Given the description of an element on the screen output the (x, y) to click on. 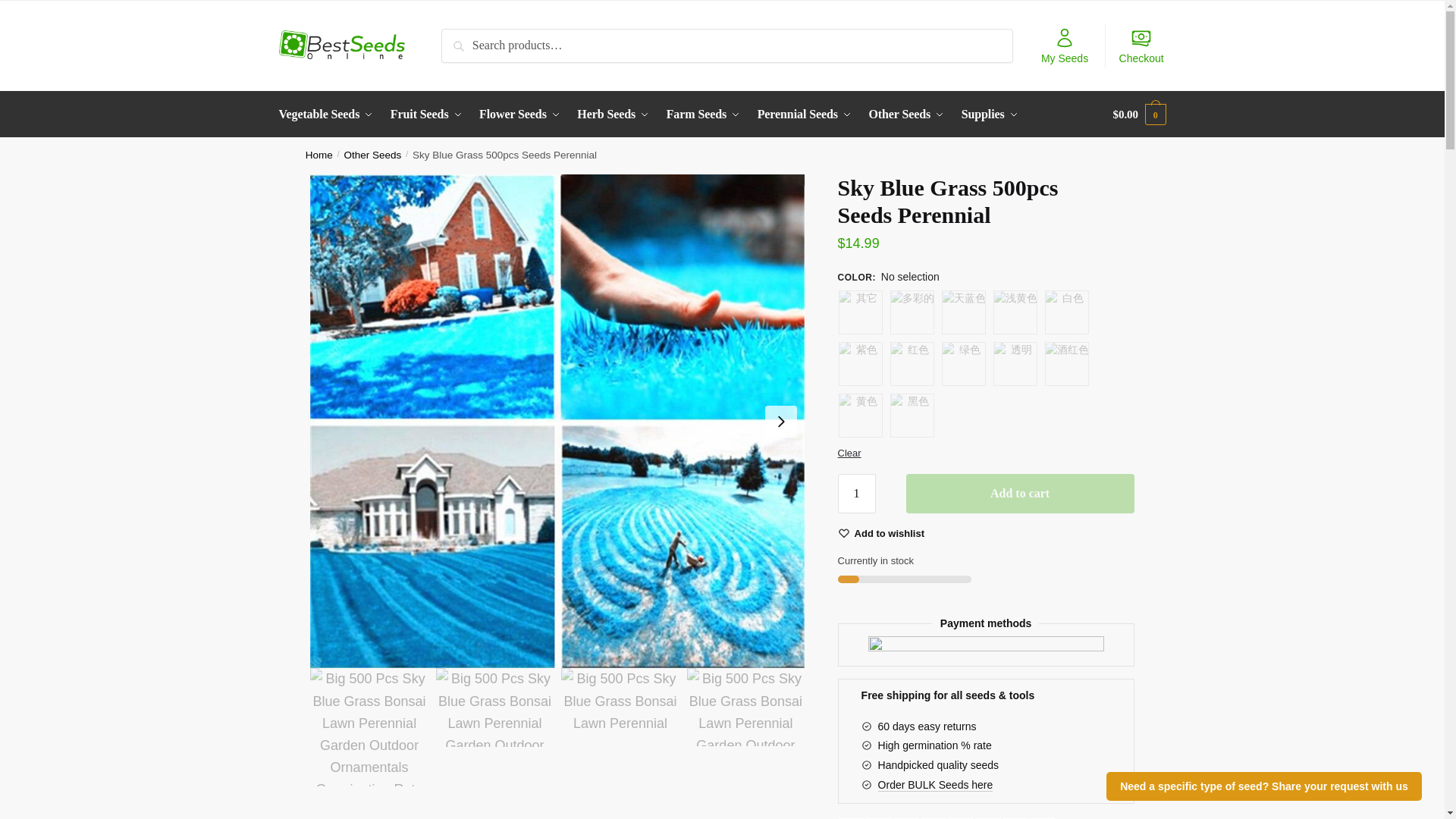
View your shopping cart (1139, 114)
Search (462, 38)
1 (857, 493)
Vegetable Seeds (329, 114)
My Seeds (1064, 45)
Checkout (1141, 45)
